Given the description of an element on the screen output the (x, y) to click on. 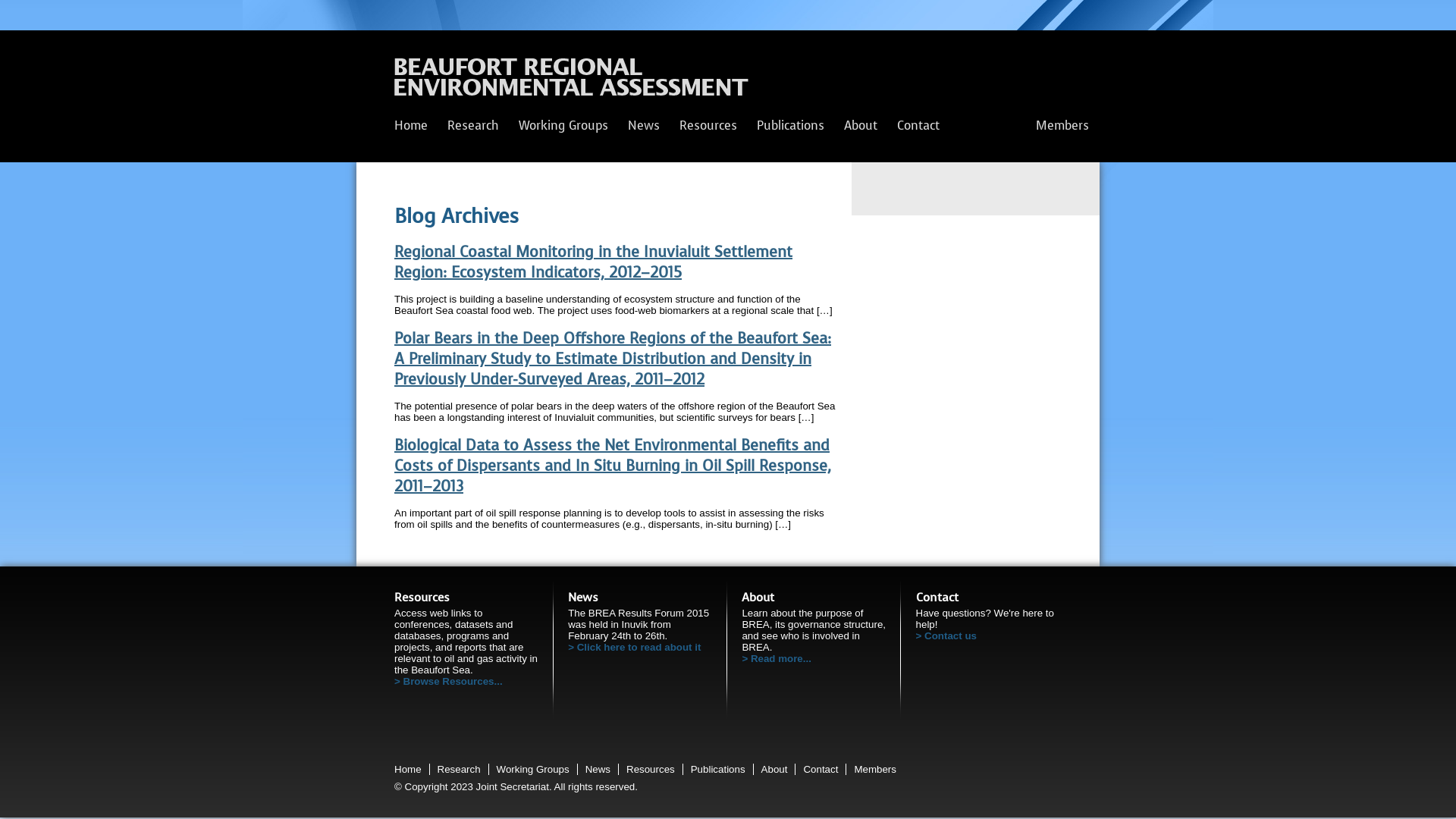
Click here to read about it Element type: text (639, 646)
Resources Element type: text (650, 769)
Research Element type: text (472, 125)
Read more... Element type: text (813, 658)
Publications Element type: text (790, 125)
Home Element type: text (410, 125)
Browse Resources... Element type: text (466, 681)
Home Element type: text (407, 769)
Members Element type: text (1061, 125)
Resources Element type: text (708, 125)
Members Element type: text (874, 769)
Contact us Element type: text (988, 635)
News Element type: text (597, 769)
Working Groups Element type: text (563, 125)
Research Element type: text (458, 769)
Contact Element type: text (820, 769)
About Element type: text (774, 769)
About Element type: text (860, 125)
News Element type: text (643, 125)
Beaufort Regional Environmental Assessment Element type: text (571, 80)
Working Groups Element type: text (532, 769)
Contact Element type: text (918, 125)
Publications Element type: text (717, 769)
